Given the description of an element on the screen output the (x, y) to click on. 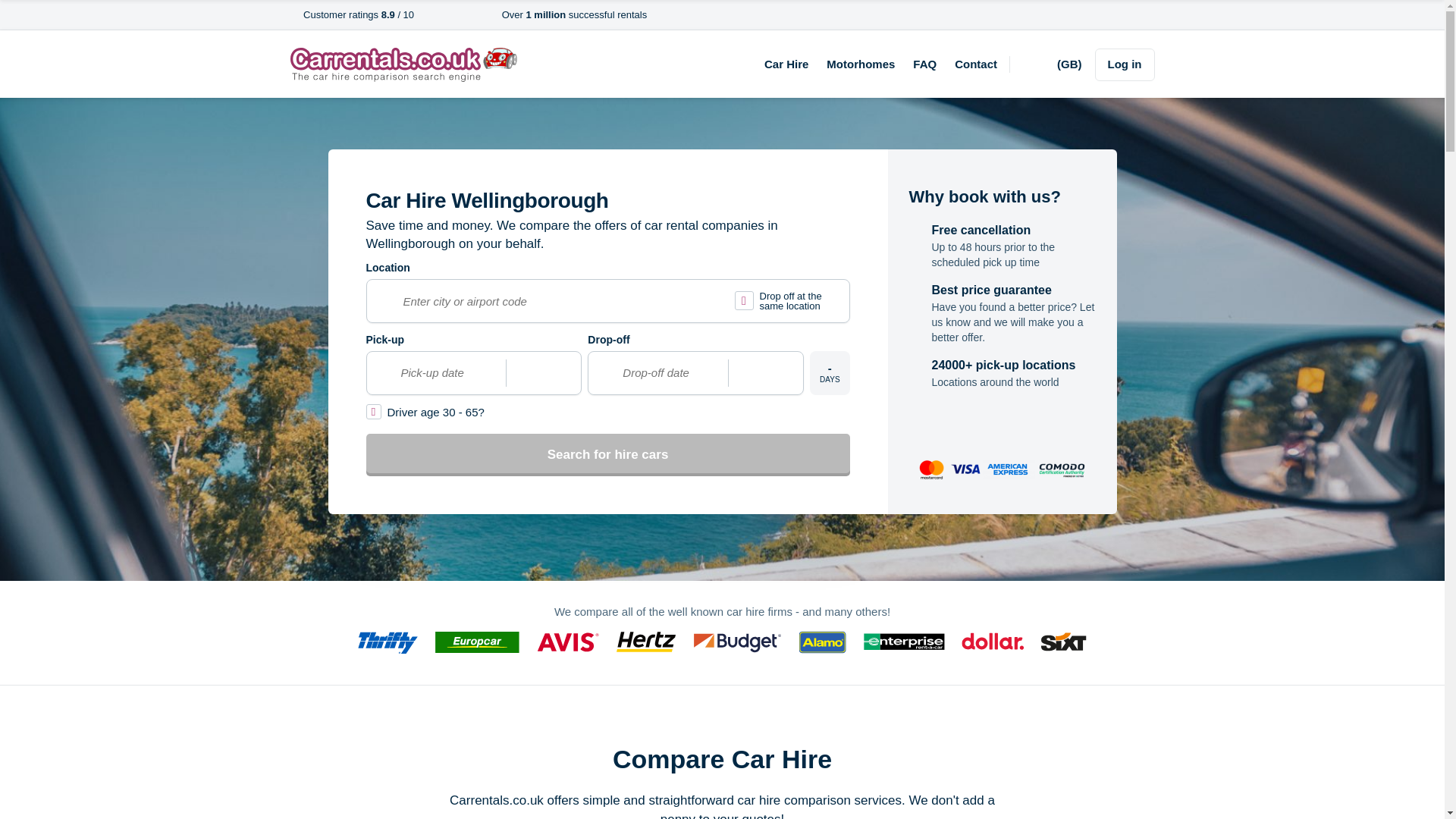
Contact (976, 63)
Motorhomes (861, 63)
Car Hire (786, 63)
globe-regular (1047, 65)
Search for hire cars (606, 454)
FAQ (924, 63)
